Given the description of an element on the screen output the (x, y) to click on. 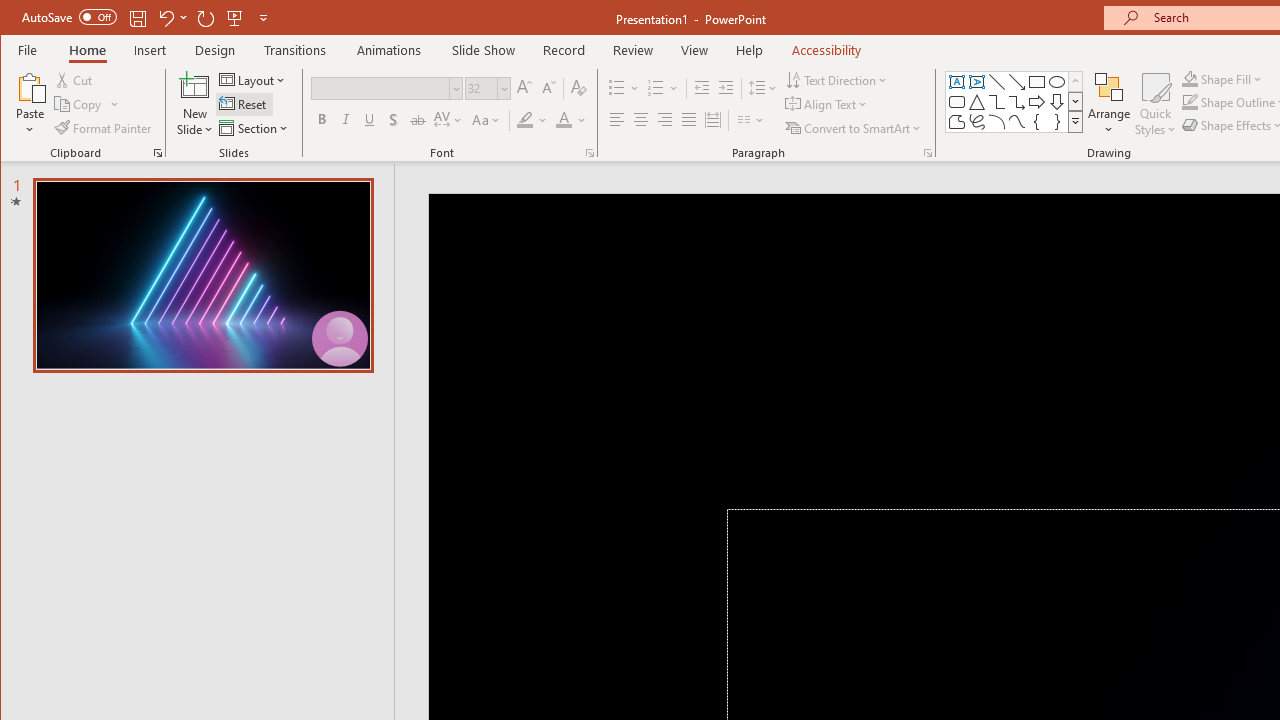
Shapes (1074, 121)
Quick Styles (1155, 104)
Isosceles Triangle (976, 102)
Distributed (712, 119)
Italic (346, 119)
Text Direction (837, 80)
Office Clipboard... (157, 152)
Arc (996, 121)
Connector: Elbow Arrow (1016, 102)
AutomationID: ShapesInsertGallery (1014, 102)
